Given the description of an element on the screen output the (x, y) to click on. 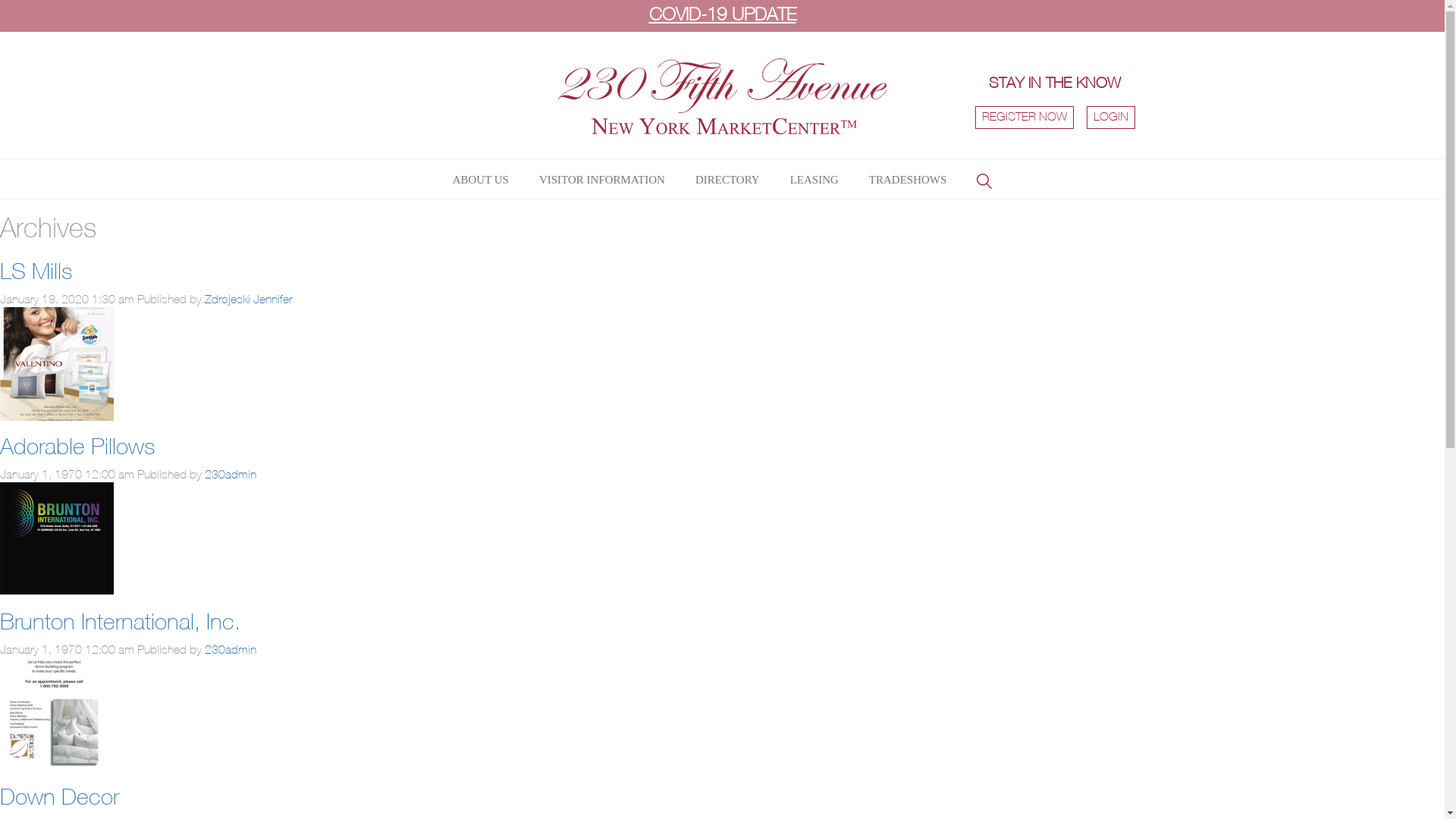
230 Fifth Avenue Element type: hover (722, 127)
Brunton International, Inc. Element type: text (120, 623)
REGISTER NOW Element type: text (1024, 117)
LS Mills Element type: text (36, 273)
VISITOR INFORMATION Element type: text (602, 179)
Zdrojeski Jennifer Element type: text (247, 299)
LOGIN Element type: text (1110, 117)
230admin Element type: text (230, 475)
ABOUT US Element type: text (480, 179)
TRADESHOWS Element type: text (908, 179)
COVID-19 UPDATE Element type: text (722, 15)
LEASING Element type: text (814, 179)
230admin Element type: text (230, 650)
Brunton International, Inc. Element type: hover (56, 588)
DIRECTORY Element type: text (727, 179)
Adorable Pillows Element type: hover (56, 413)
Down Decor Element type: hover (56, 764)
Down Decor Element type: text (59, 798)
Adorable Pillows Element type: text (77, 448)
